Given the description of an element on the screen output the (x, y) to click on. 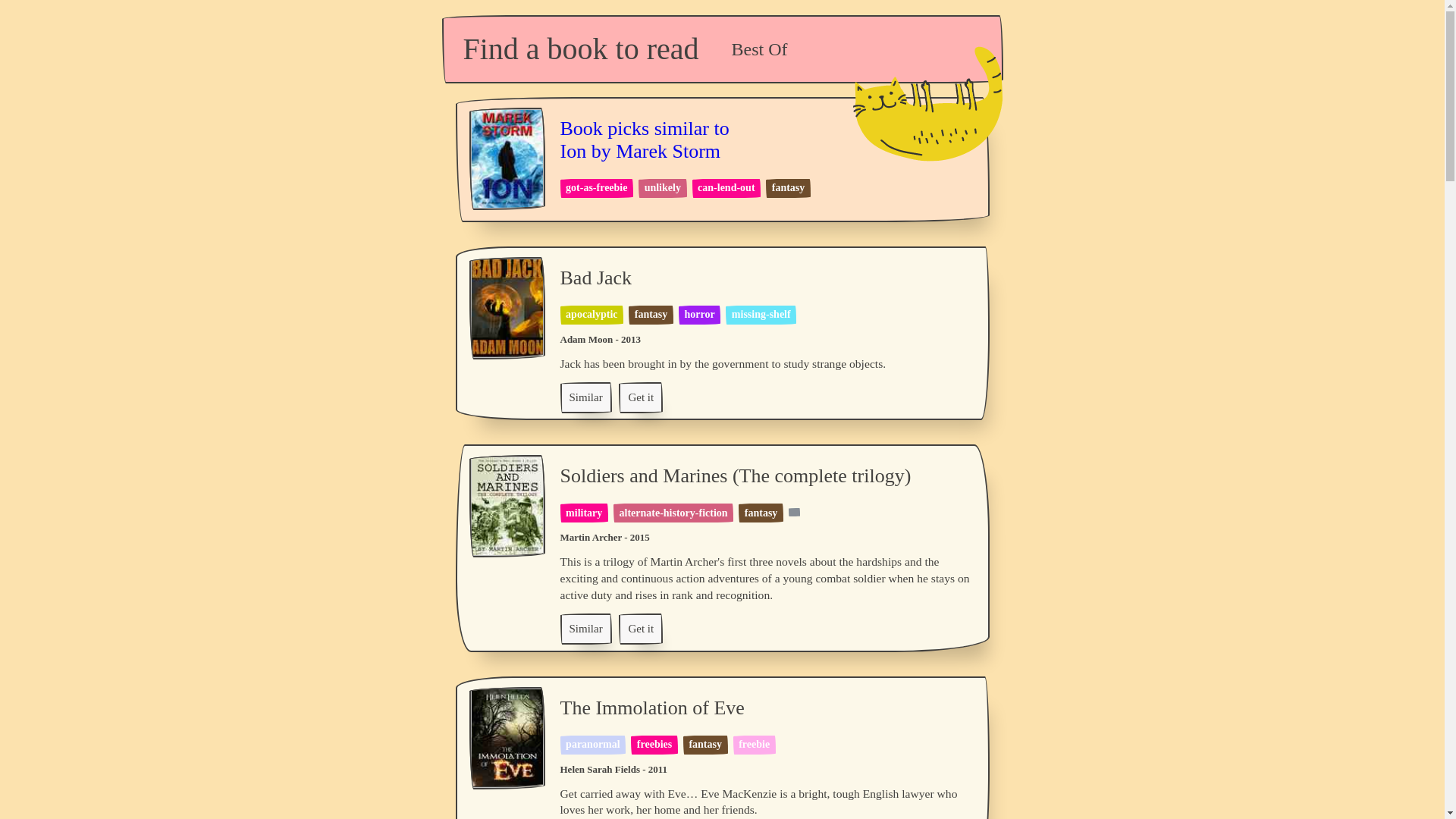
fantasy (651, 314)
fantasy (705, 744)
freebie (754, 744)
fantasy (760, 512)
military (584, 512)
Similar (585, 628)
paranormal (593, 744)
Get it (644, 153)
Similar (640, 397)
Similar (585, 396)
alternate-history-fiction (585, 397)
Get it (672, 512)
Get it (640, 628)
freebies (640, 396)
